Given the description of an element on the screen output the (x, y) to click on. 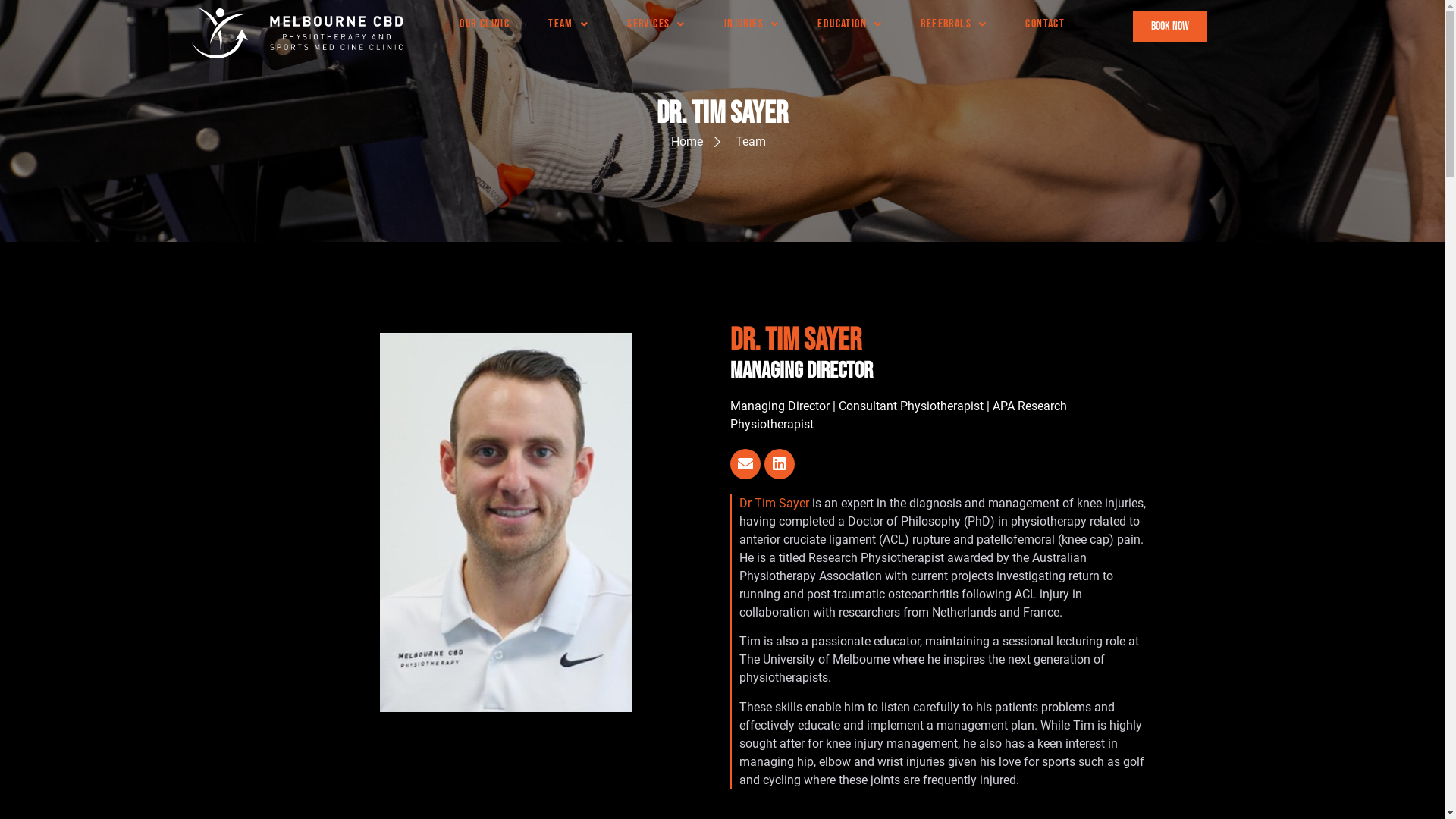
EDUCATION Element type: text (849, 24)
book now Element type: text (1169, 26)
REFERRALS Element type: text (953, 24)
Dr Tim Sayer Element type: text (773, 502)
SERVICES Element type: text (656, 24)
INJURIES Element type: text (751, 24)
TEAM Element type: text (568, 24)
Team Element type: text (737, 141)
CONTACT Element type: text (1044, 24)
OUR CLINIC Element type: text (484, 24)
